Given the description of an element on the screen output the (x, y) to click on. 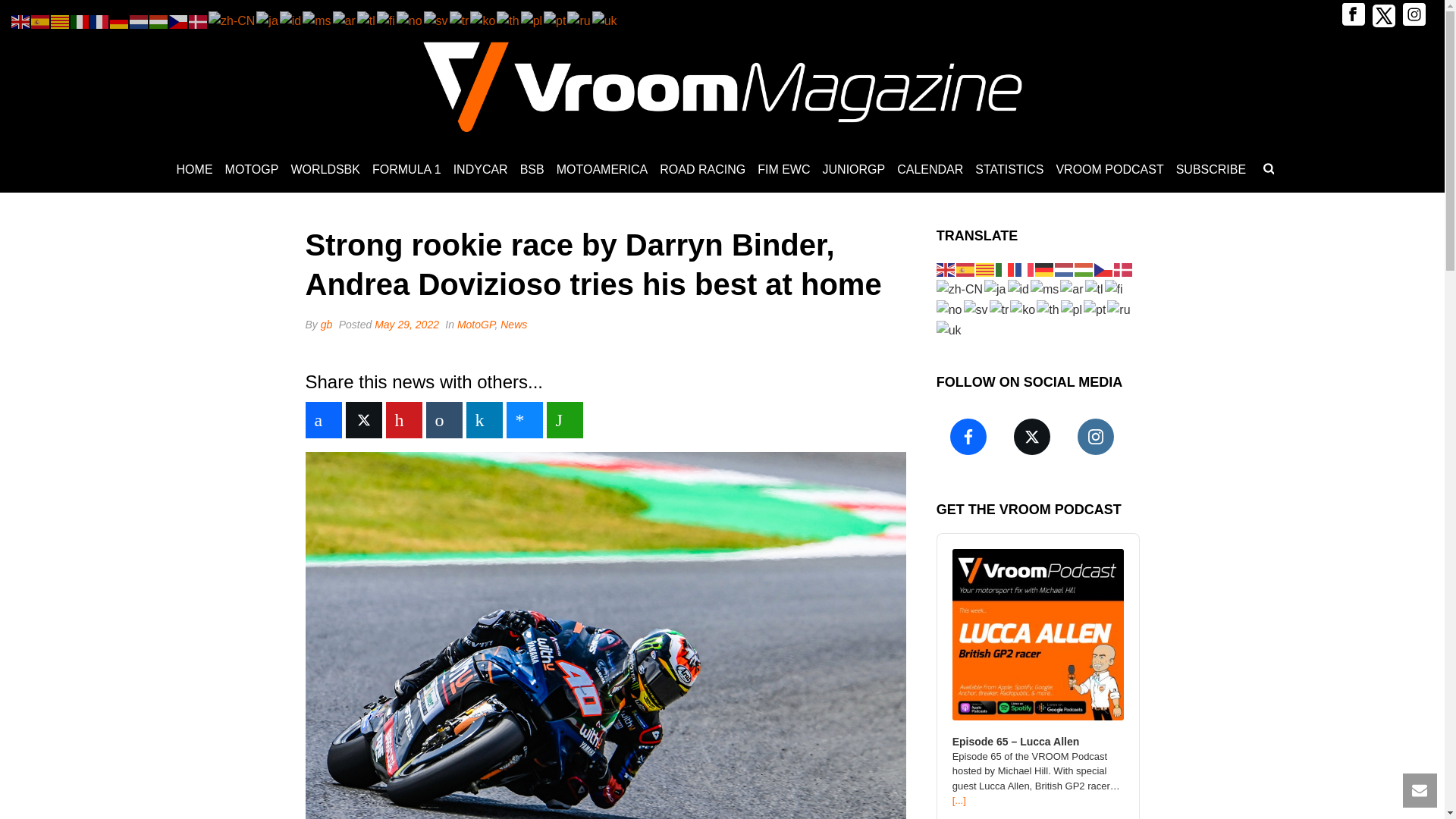
MOTOGP (252, 169)
JUNIORGP (853, 169)
FIM EWC (783, 169)
FORMULA 1 (406, 169)
MOTOAMERICA (601, 169)
Share on Tumblr (444, 420)
Share on WhatsApp (564, 420)
Share on Pinterest (403, 420)
Share on LinkedIn (483, 420)
STATISTICS (1009, 169)
FORMULA 1 (406, 169)
FIM EWC (783, 169)
Share on Facebook Messenger (524, 420)
Share on X (363, 420)
